Given the description of an element on the screen output the (x, y) to click on. 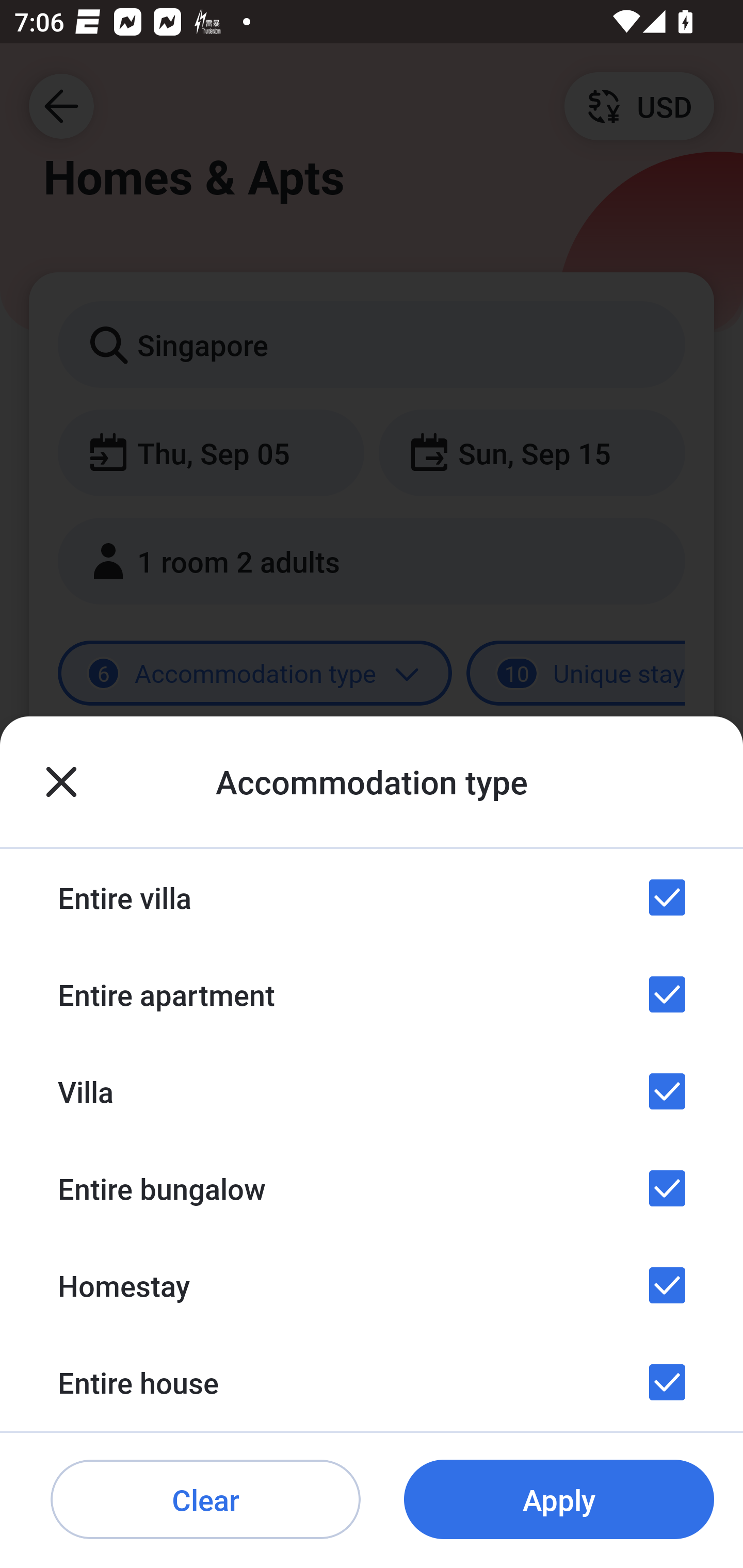
Entire villa (371, 897)
Entire apartment (371, 994)
Villa (371, 1091)
Entire bungalow (371, 1188)
Homestay (371, 1284)
Entire house (371, 1382)
Clear (205, 1499)
Apply (559, 1499)
